Given the description of an element on the screen output the (x, y) to click on. 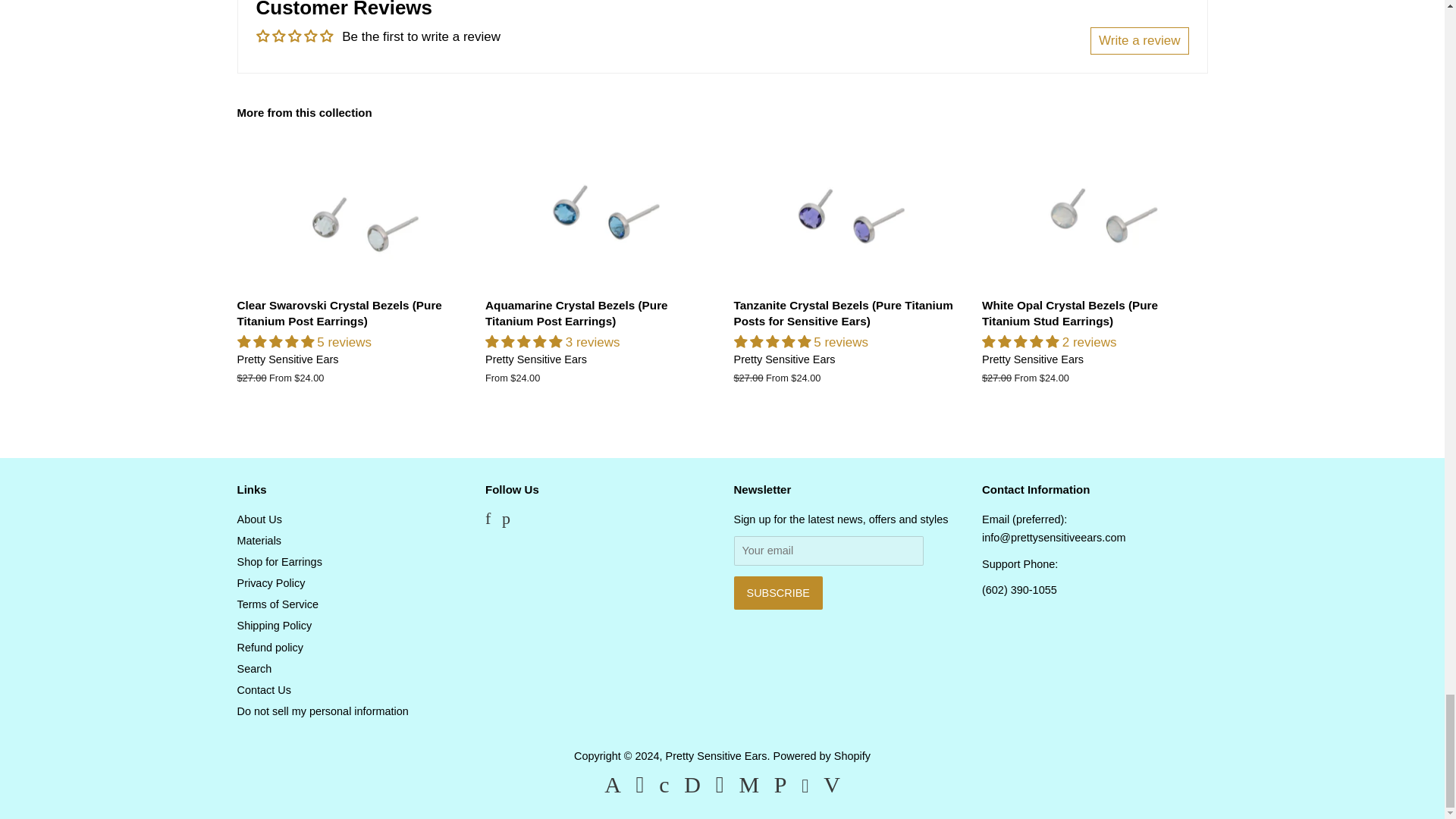
Subscribe (777, 592)
